Given the description of an element on the screen output the (x, y) to click on. 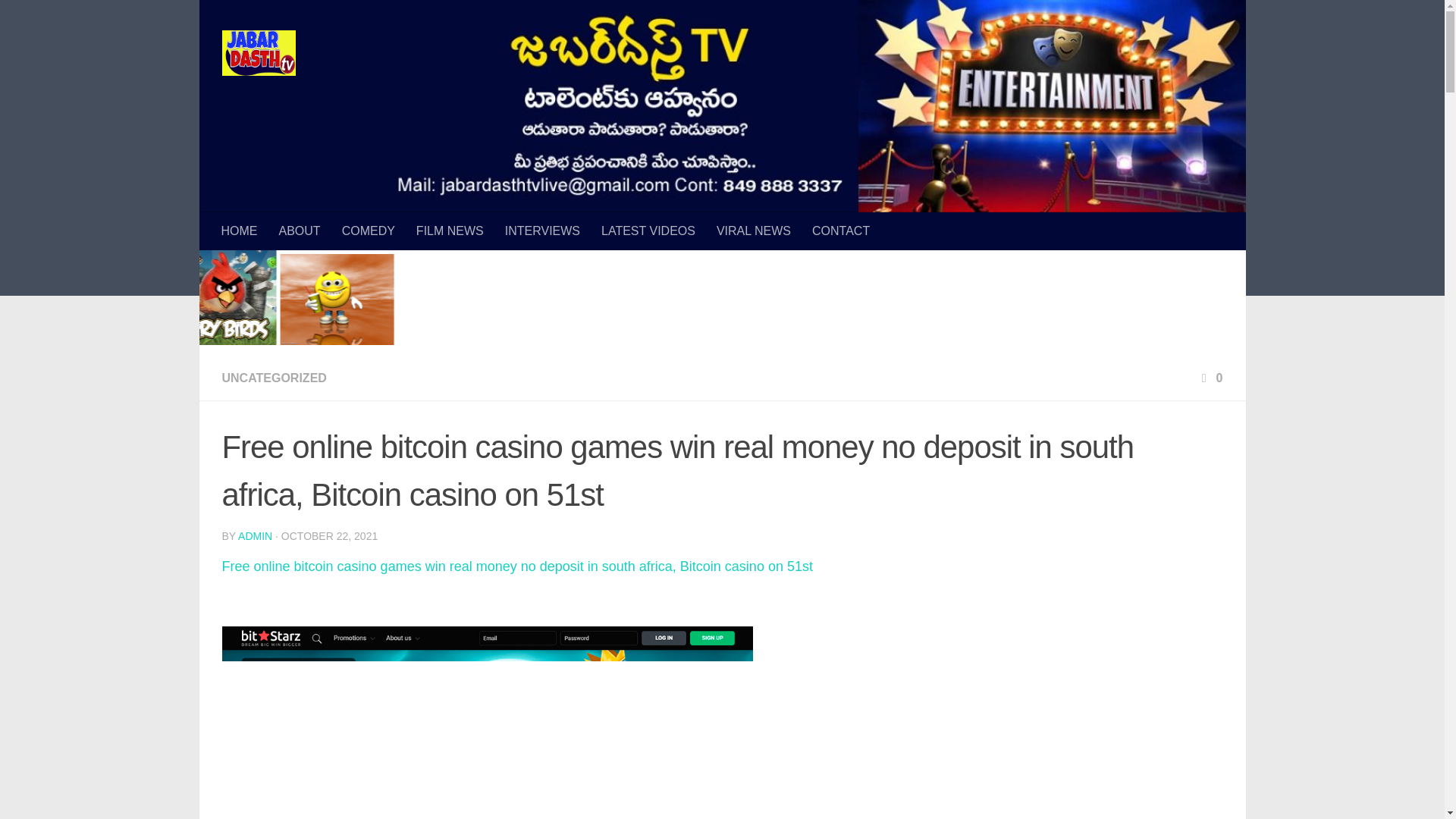
CONTACT (841, 231)
Posts by admin (255, 535)
Skip to content (63, 20)
ABOUT (299, 231)
LATEST VIDEOS (648, 231)
ADMIN (255, 535)
UNCATEGORIZED (273, 377)
0 (1210, 377)
